Given the description of an element on the screen output the (x, y) to click on. 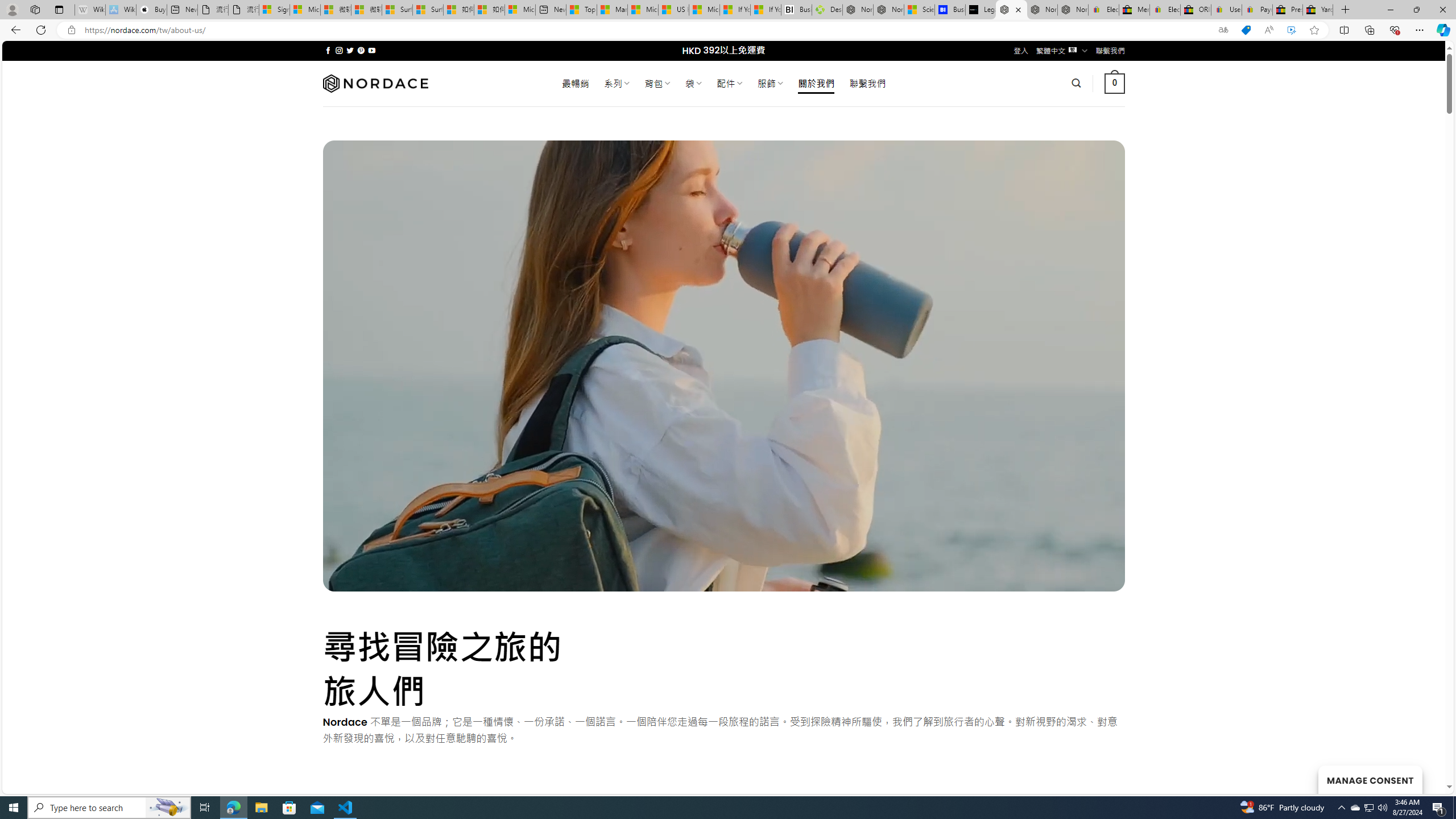
Press Room - eBay Inc. (1287, 9)
Follow on Twitter (349, 50)
US Heat Deaths Soared To Record High Last Year (673, 9)
Follow on Pinterest (360, 50)
